Given the description of an element on the screen output the (x, y) to click on. 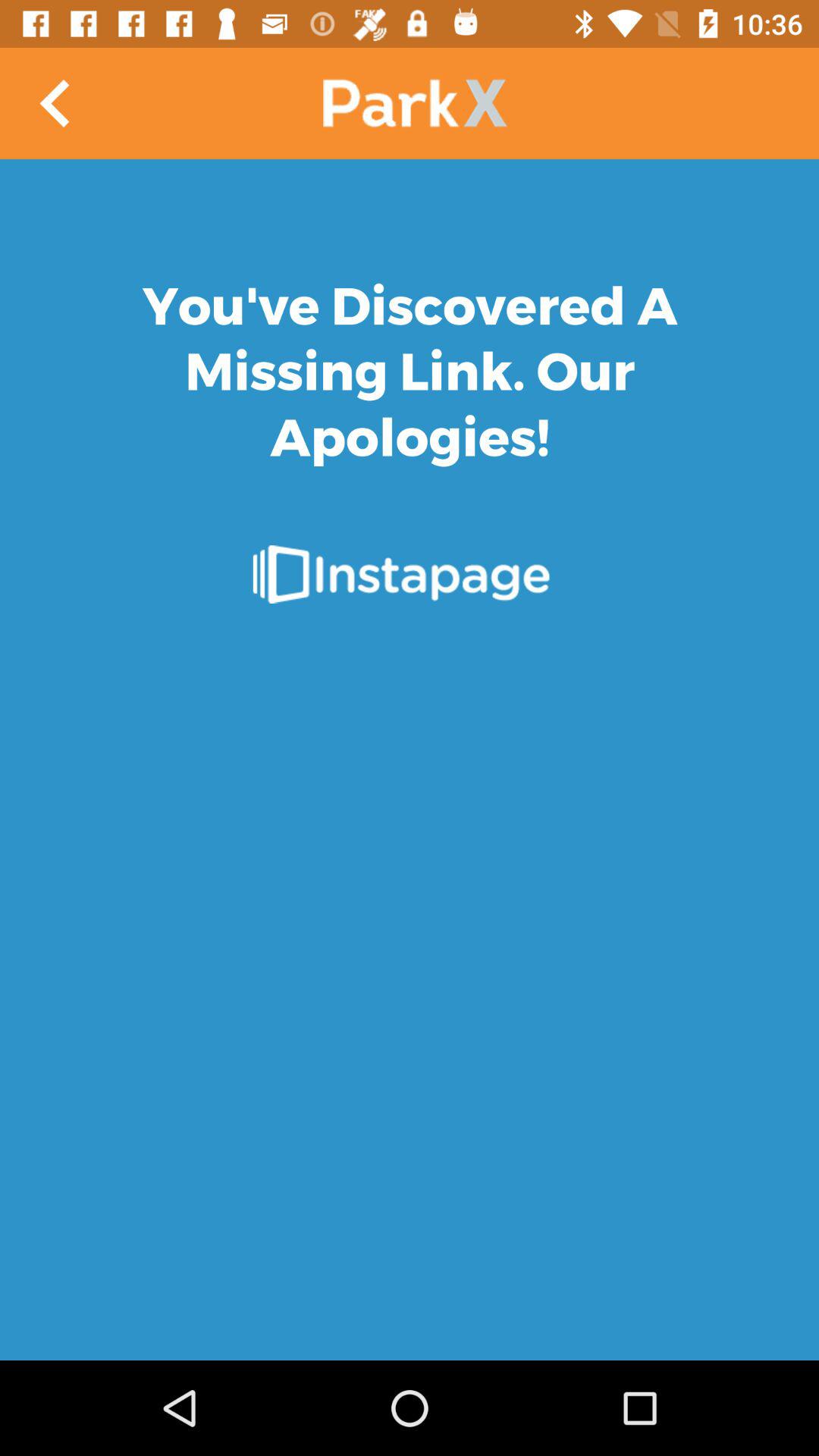
go to previous (55, 103)
